Given the description of an element on the screen output the (x, y) to click on. 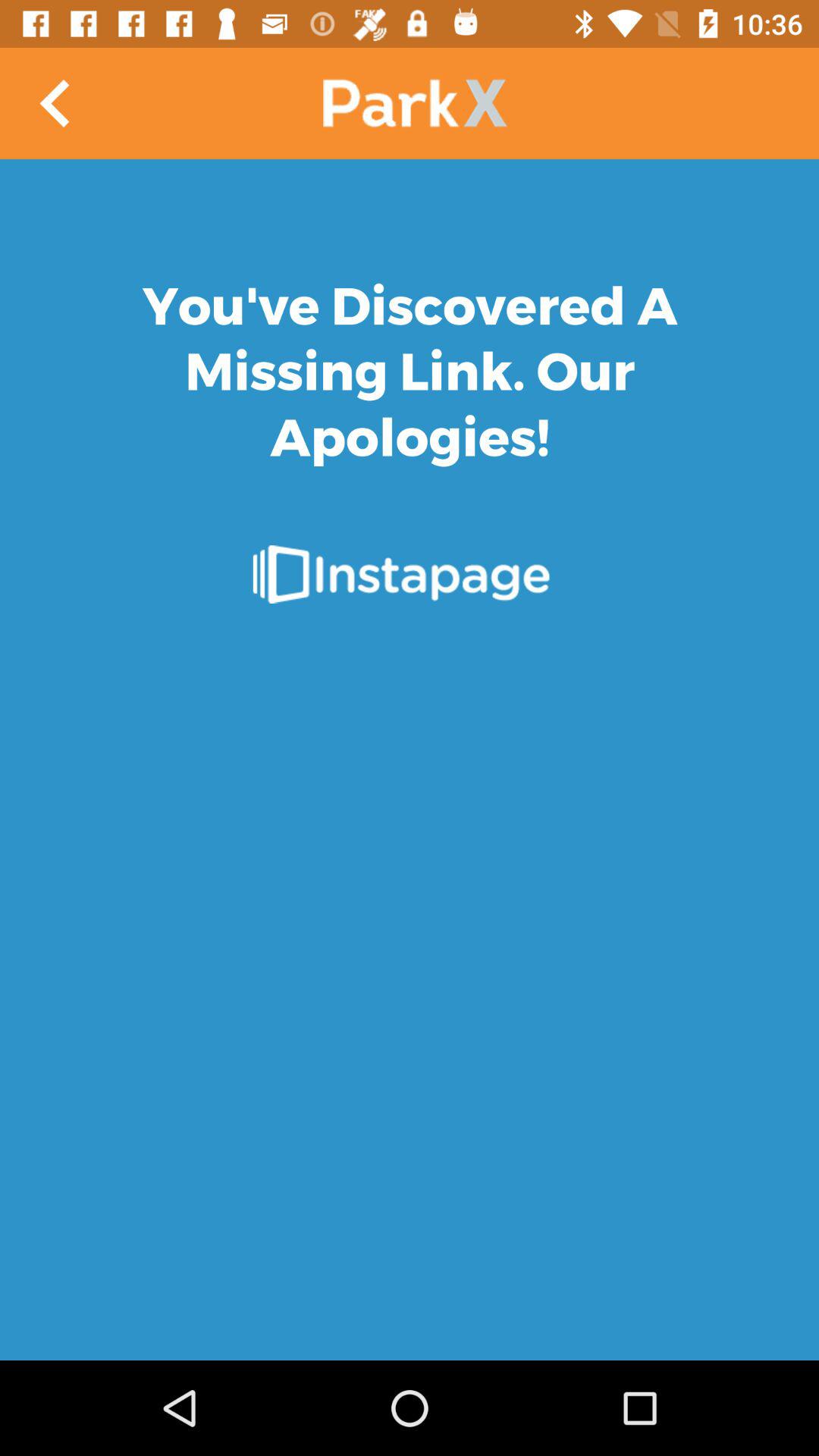
go to previous (55, 103)
